Given the description of an element on the screen output the (x, y) to click on. 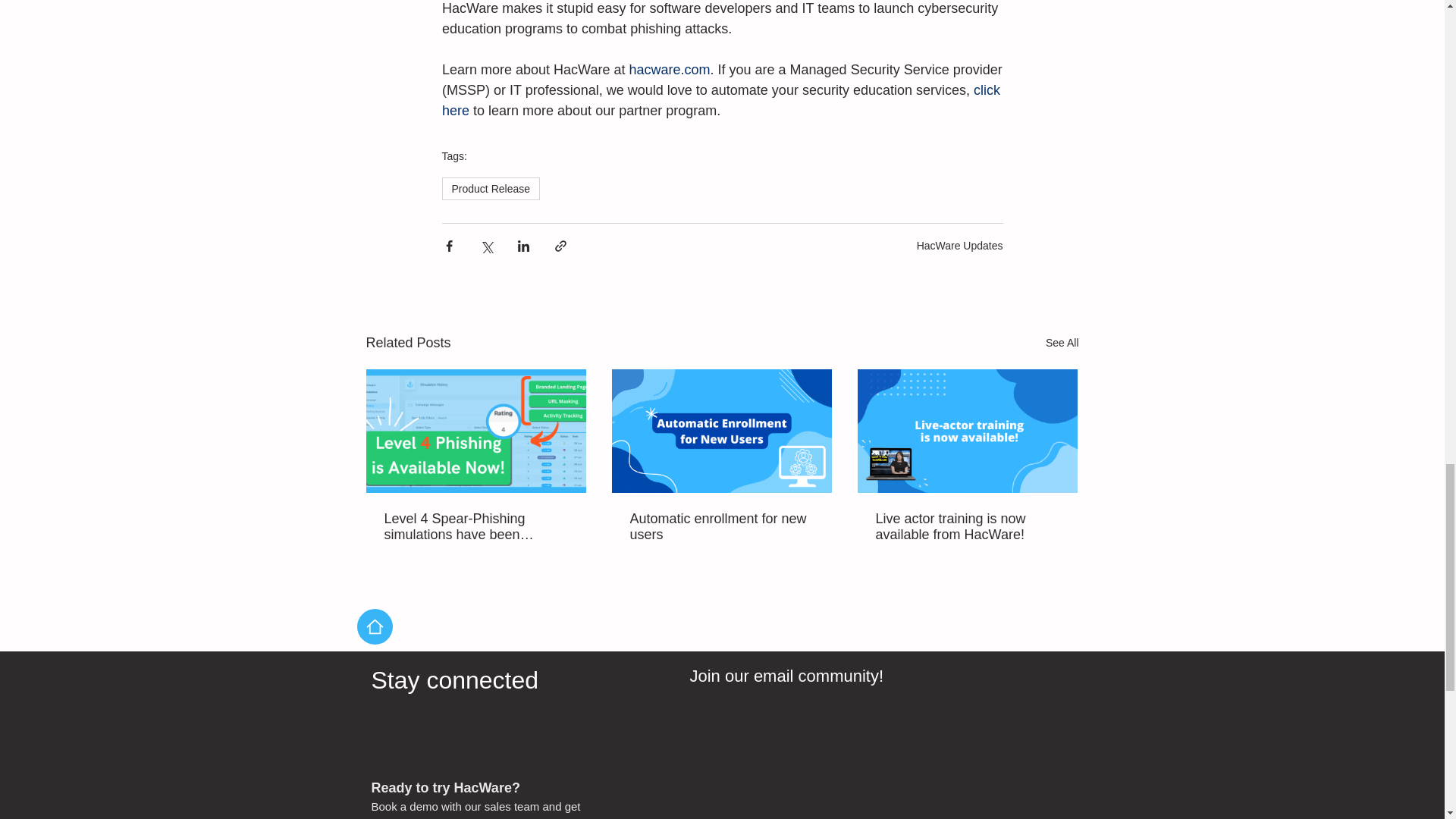
click here  (722, 99)
HacWare Updates (960, 245)
Live actor training is now available from HacWare! (966, 526)
Automatic enrollment for new users (720, 526)
See All (1061, 342)
Product Release (490, 188)
hacware.com (669, 69)
Level 4 Spear-Phishing simulations have been released! (475, 526)
